Given the description of an element on the screen output the (x, y) to click on. 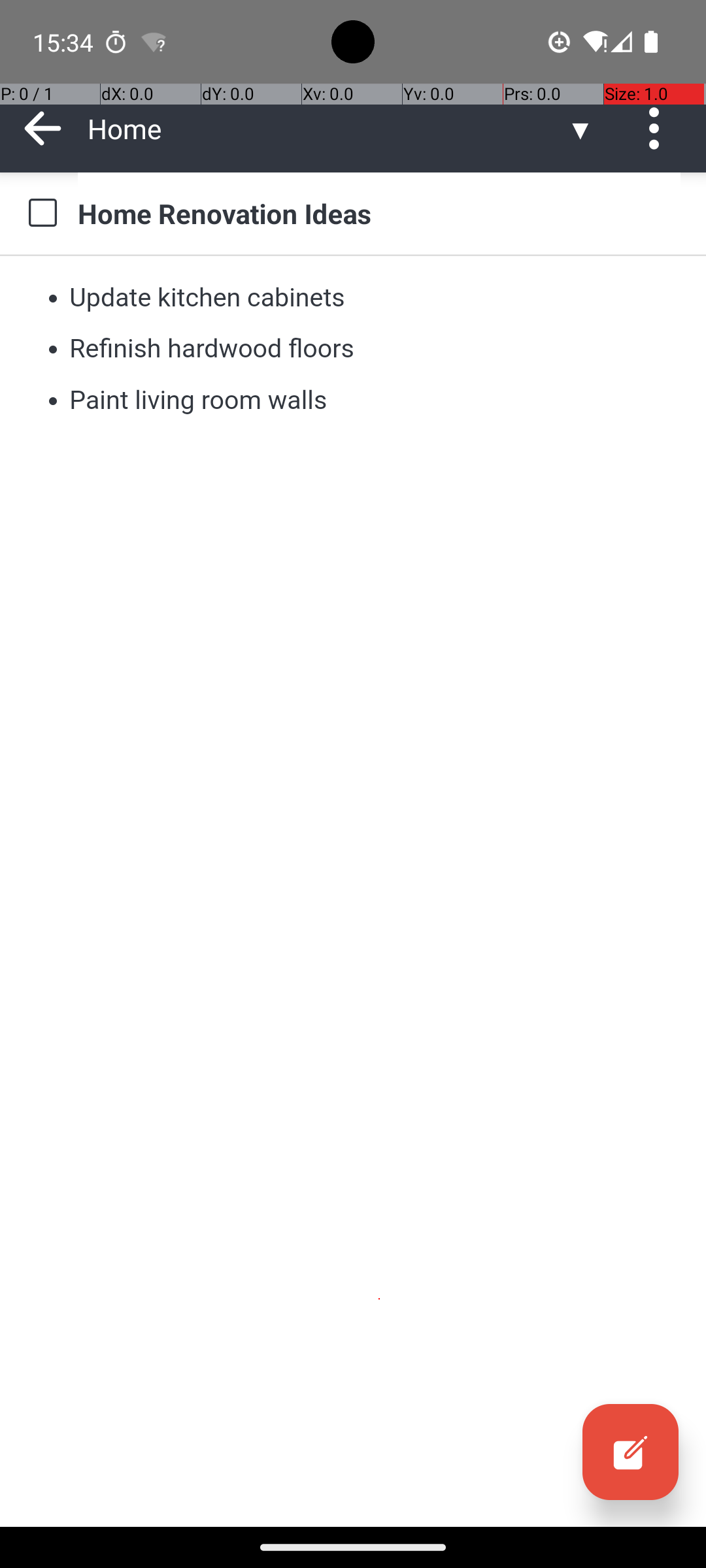
Home Renovation Ideas Element type: android.widget.EditText (378, 213)
•  Element type: android.view.View (52, 296)
Update kitchen cabinets Element type: android.widget.TextView (207, 296)
Refinish hardwood floors Element type: android.widget.TextView (211, 348)
Paint living room walls Element type: android.widget.TextView (197, 399)
